Given the description of an element on the screen output the (x, y) to click on. 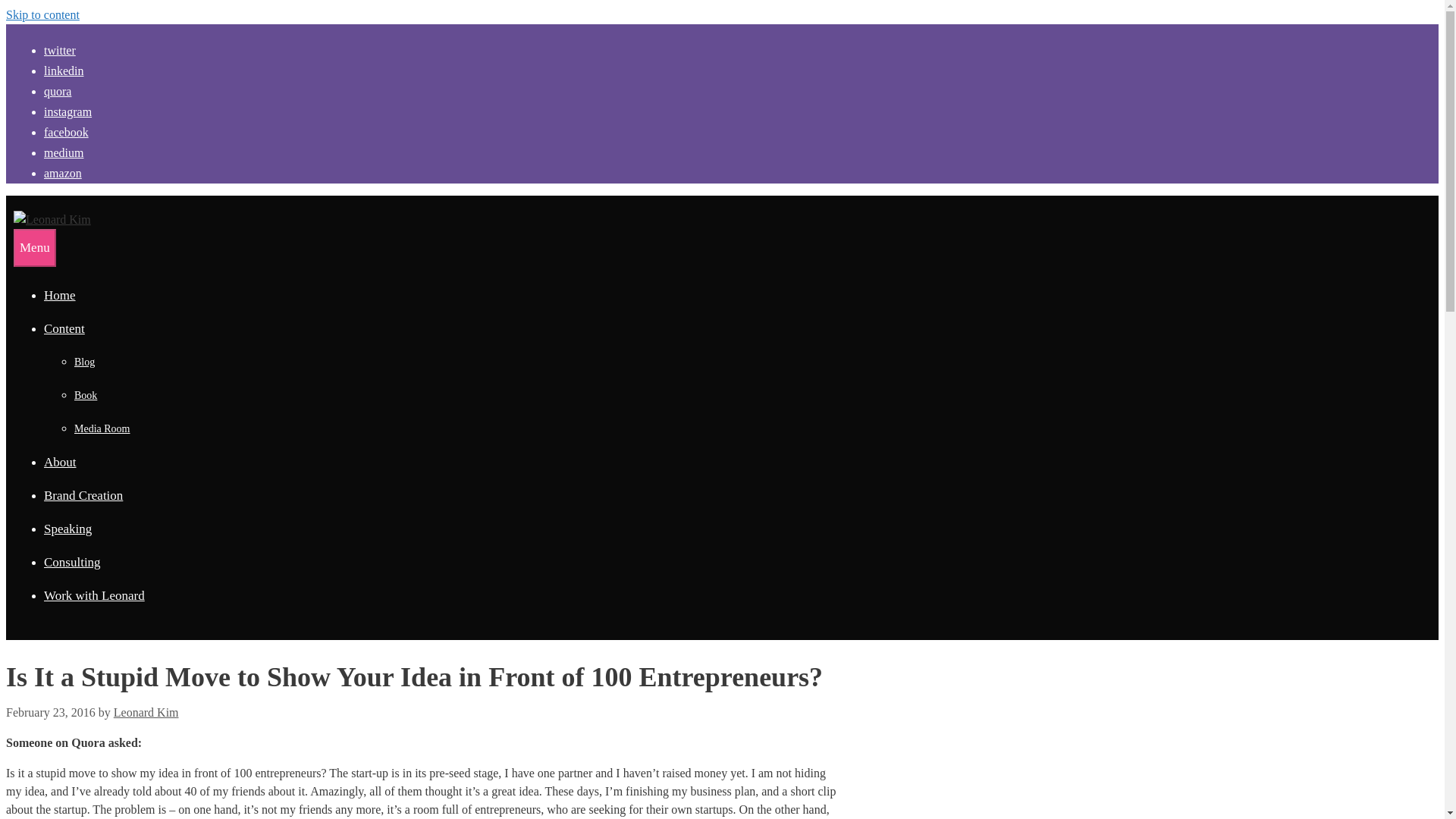
Twitter (62, 50)
Consulting (71, 562)
Home (59, 295)
Leonard Kim (146, 712)
quora (60, 91)
Menu (34, 247)
Media Room (102, 428)
Skip to content (42, 14)
Speaking (67, 528)
medium (66, 152)
Work with Leonard (93, 595)
twitter (62, 50)
Content (63, 328)
Book (85, 395)
facebook (69, 132)
